Given the description of an element on the screen output the (x, y) to click on. 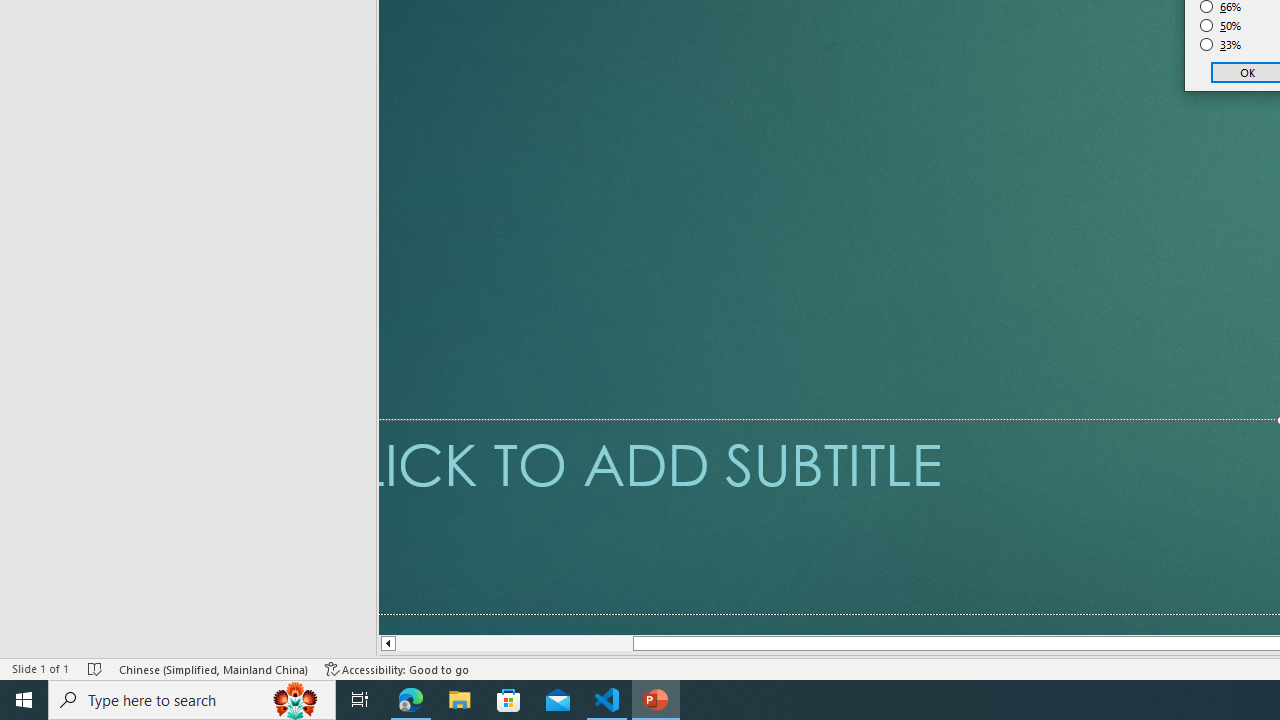
50% (1221, 25)
Accessibility Checker Accessibility: Good to go (397, 668)
33% (1221, 44)
